Given the description of an element on the screen output the (x, y) to click on. 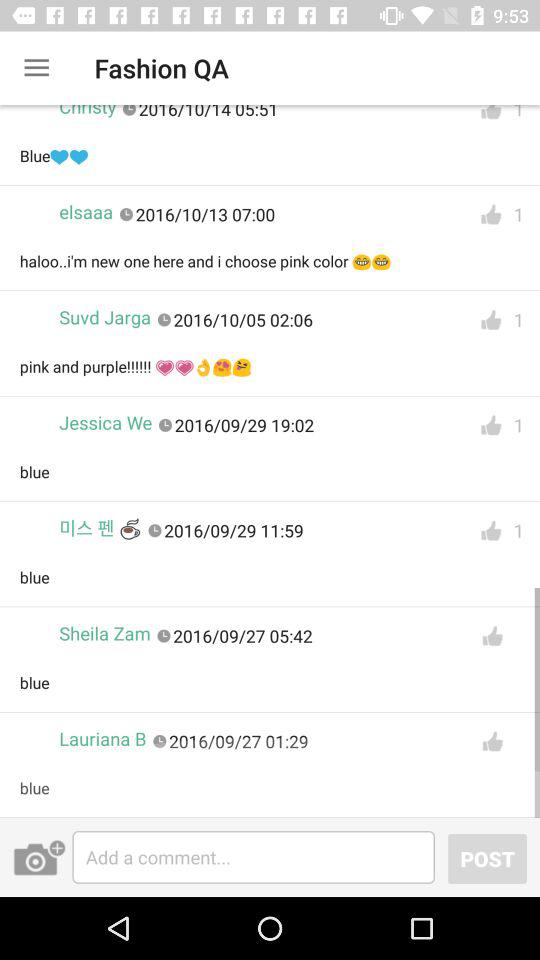
select to like this option (492, 636)
